Given the description of an element on the screen output the (x, y) to click on. 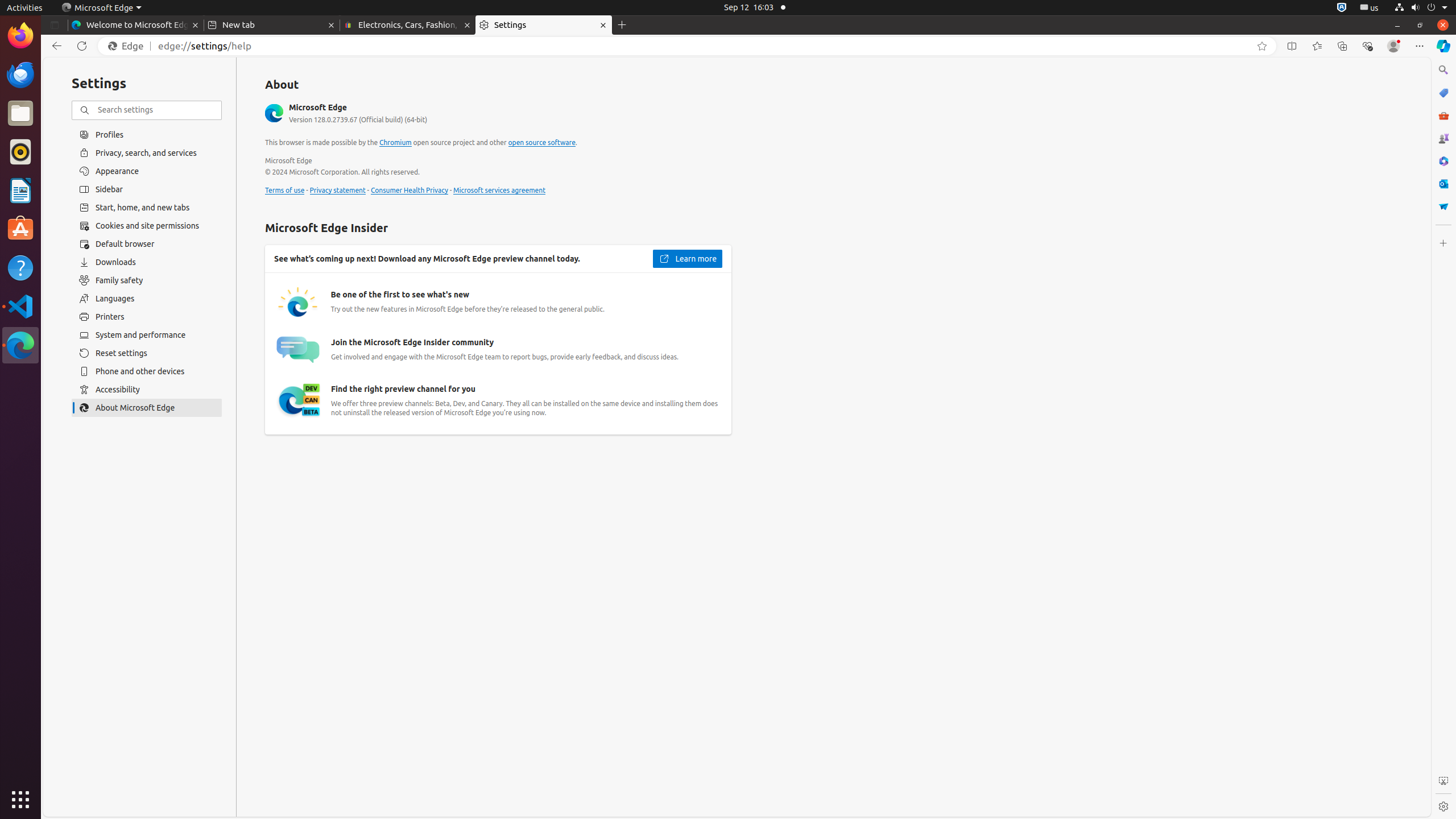
Tools Element type: push-button (1443, 115)
Default browser Element type: tree-item (146, 243)
Add this page to favorites (Ctrl+D) Element type: push-button (1261, 46)
Settings and more (Alt+F) Element type: push-button (1419, 45)
